Given the description of an element on the screen output the (x, y) to click on. 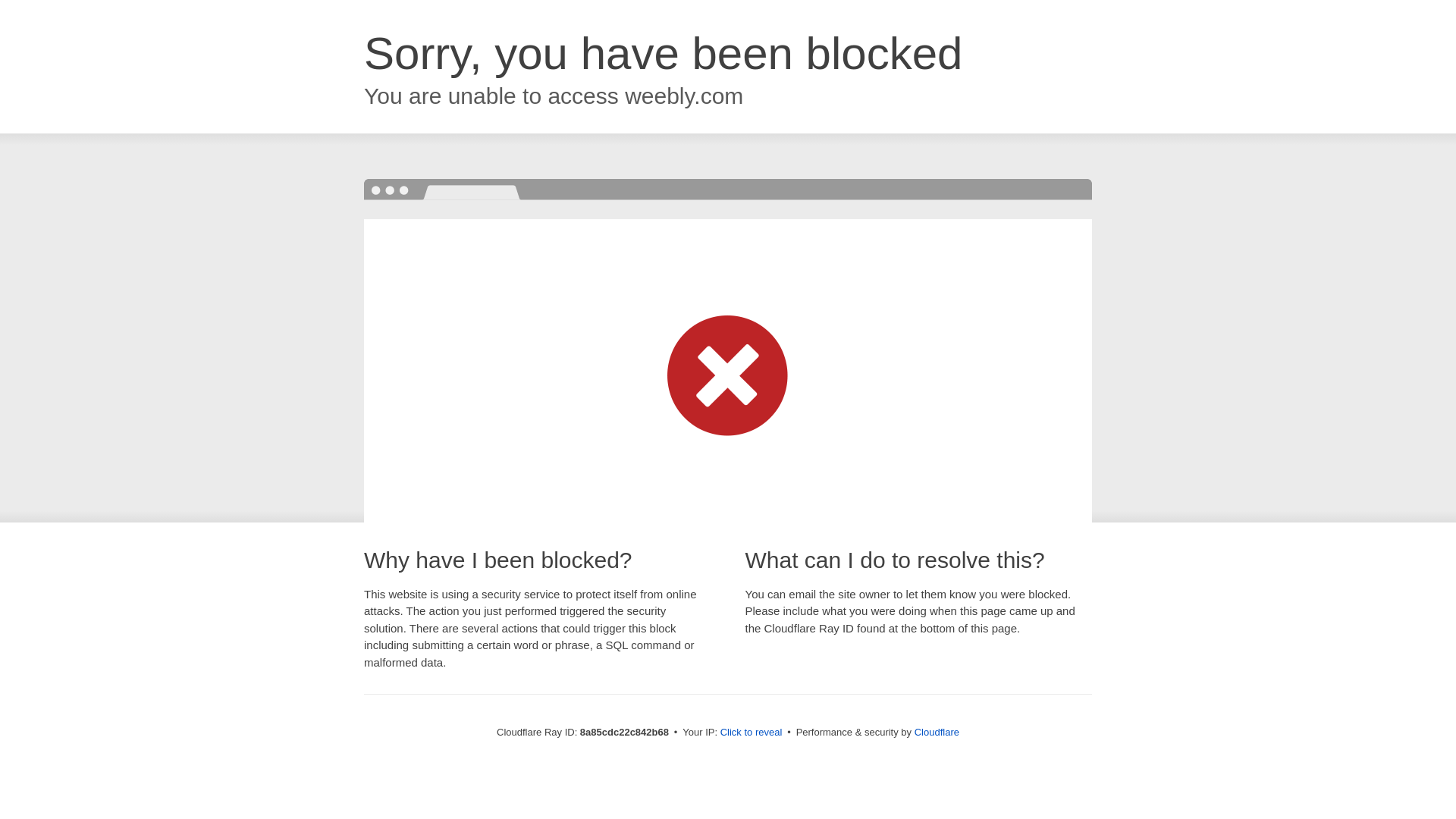
Click to reveal (751, 732)
Cloudflare (936, 731)
